Given the description of an element on the screen output the (x, y) to click on. 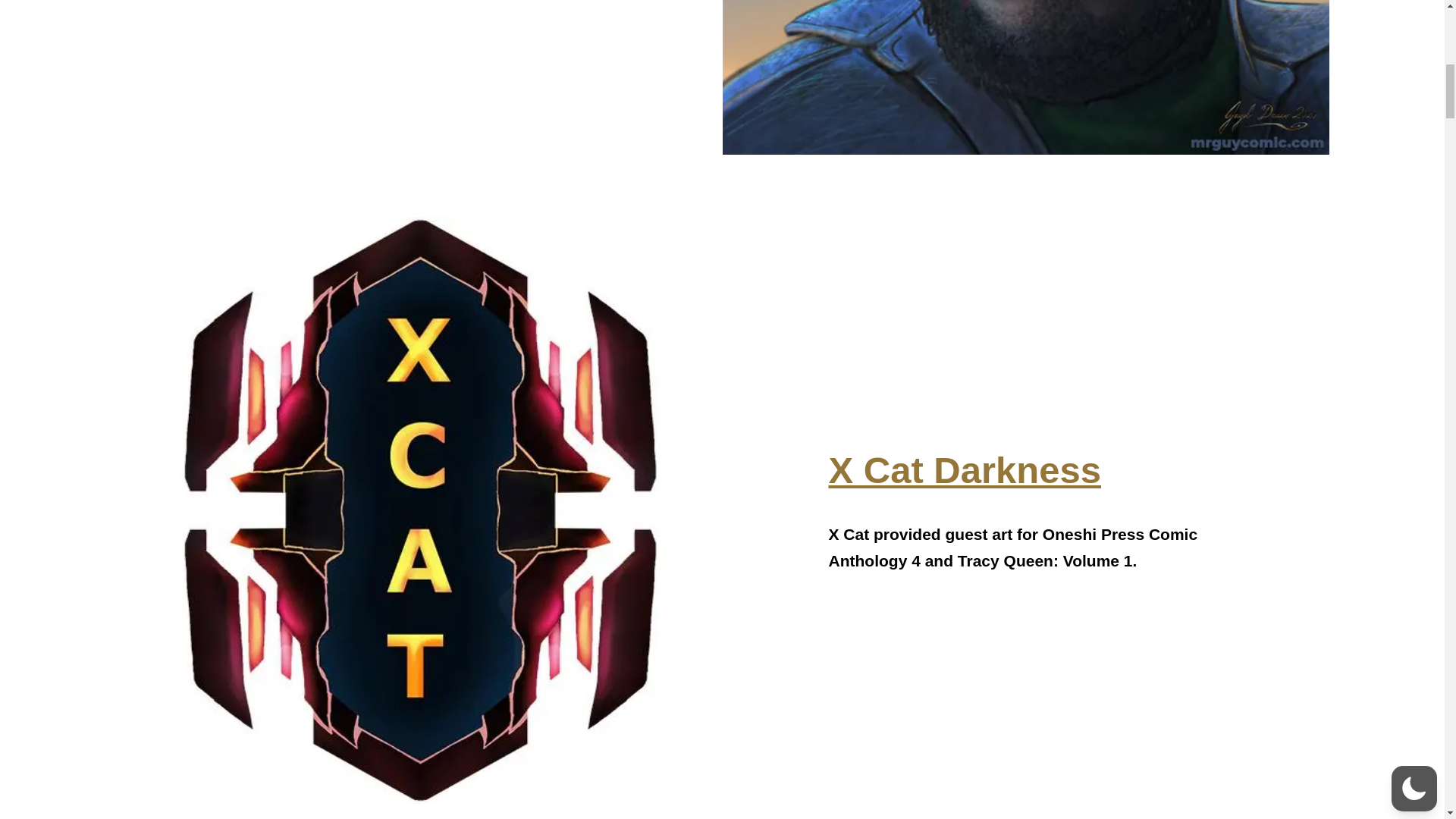
ShaydensDoodle (1024, 811)
Adrian King (1024, 108)
X Cat Darkness (964, 469)
